Given the description of an element on the screen output the (x, y) to click on. 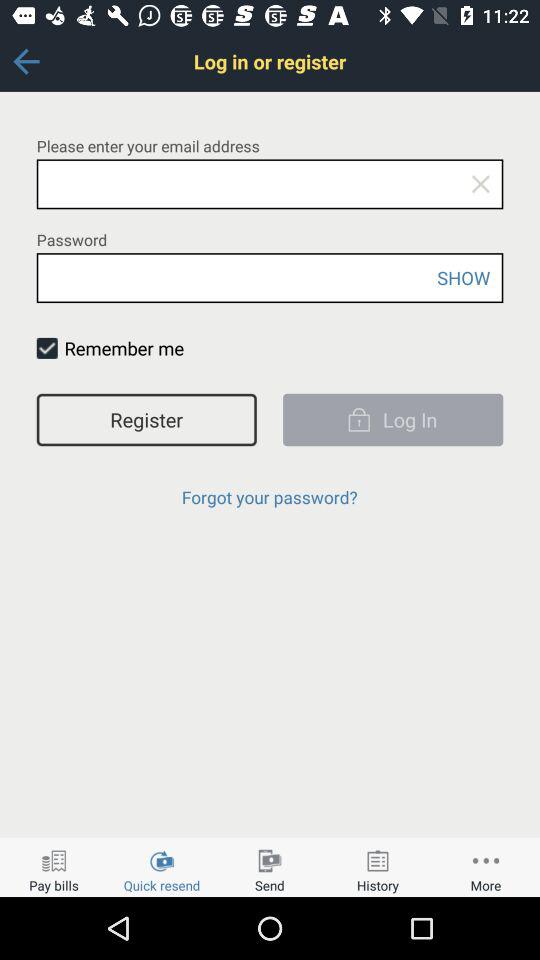
check mark box (46, 348)
